Given the description of an element on the screen output the (x, y) to click on. 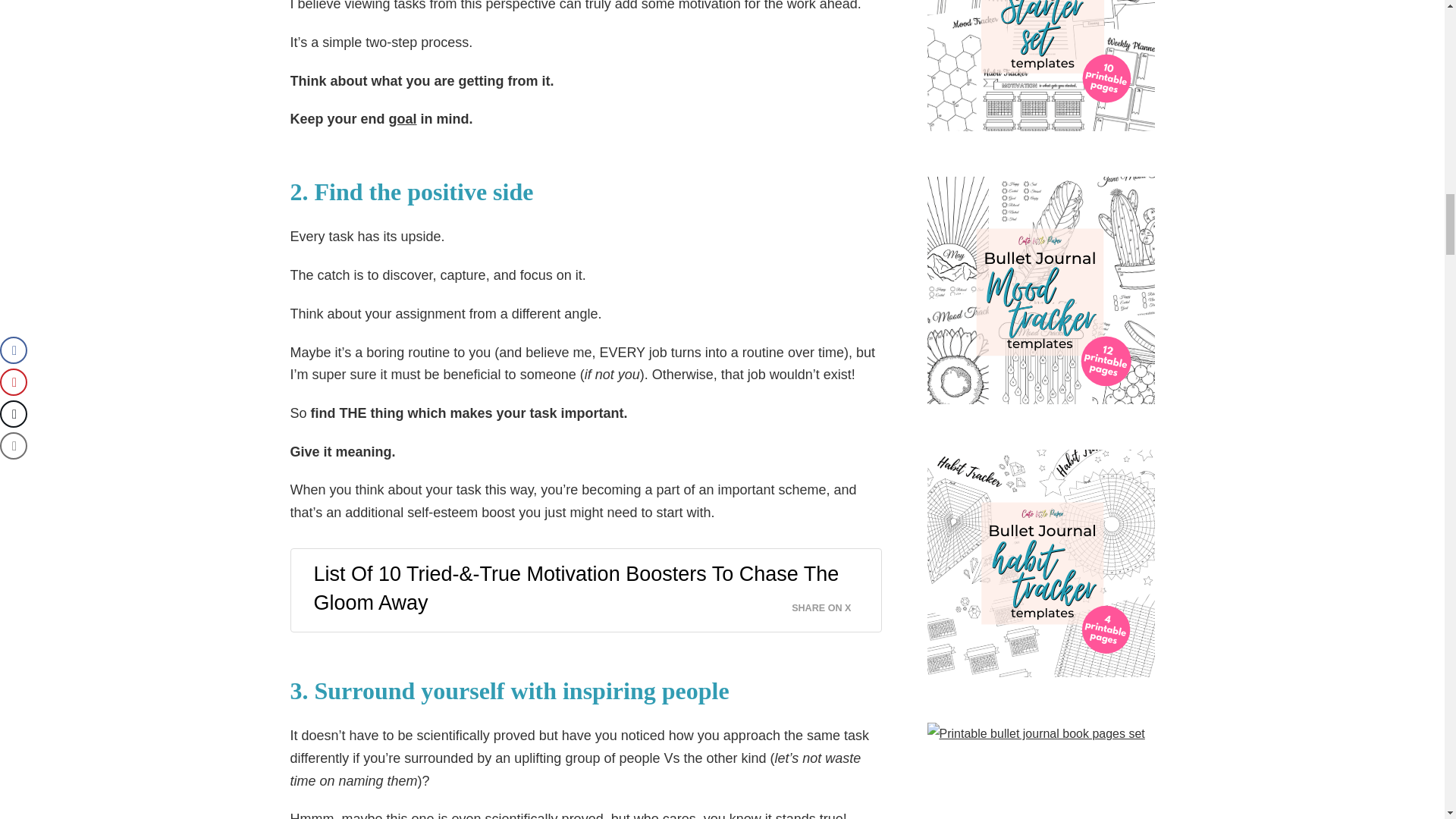
SHARE ON X (830, 603)
goal (402, 118)
